Given the description of an element on the screen output the (x, y) to click on. 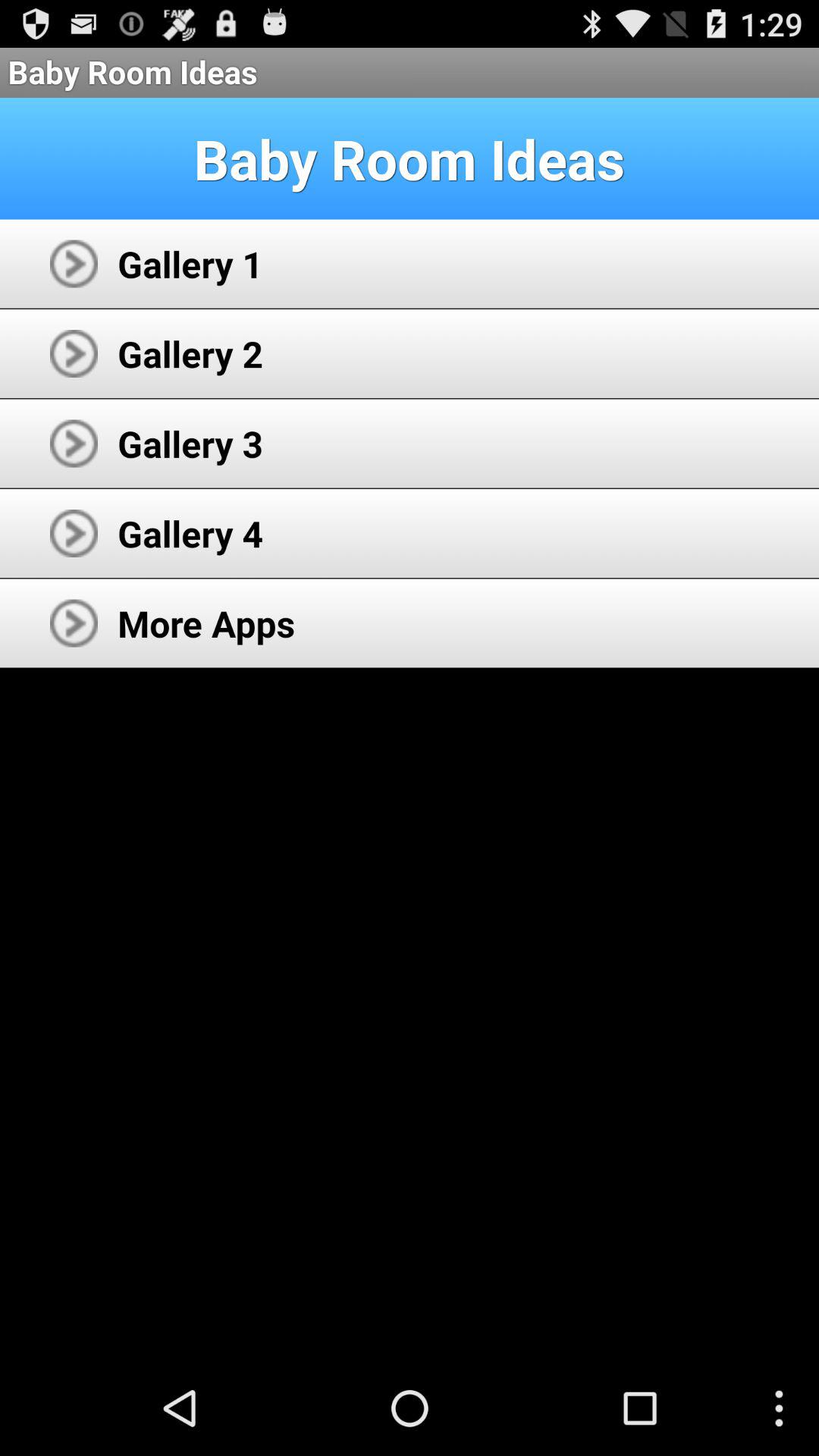
launch gallery 3 icon (190, 443)
